Given the description of an element on the screen output the (x, y) to click on. 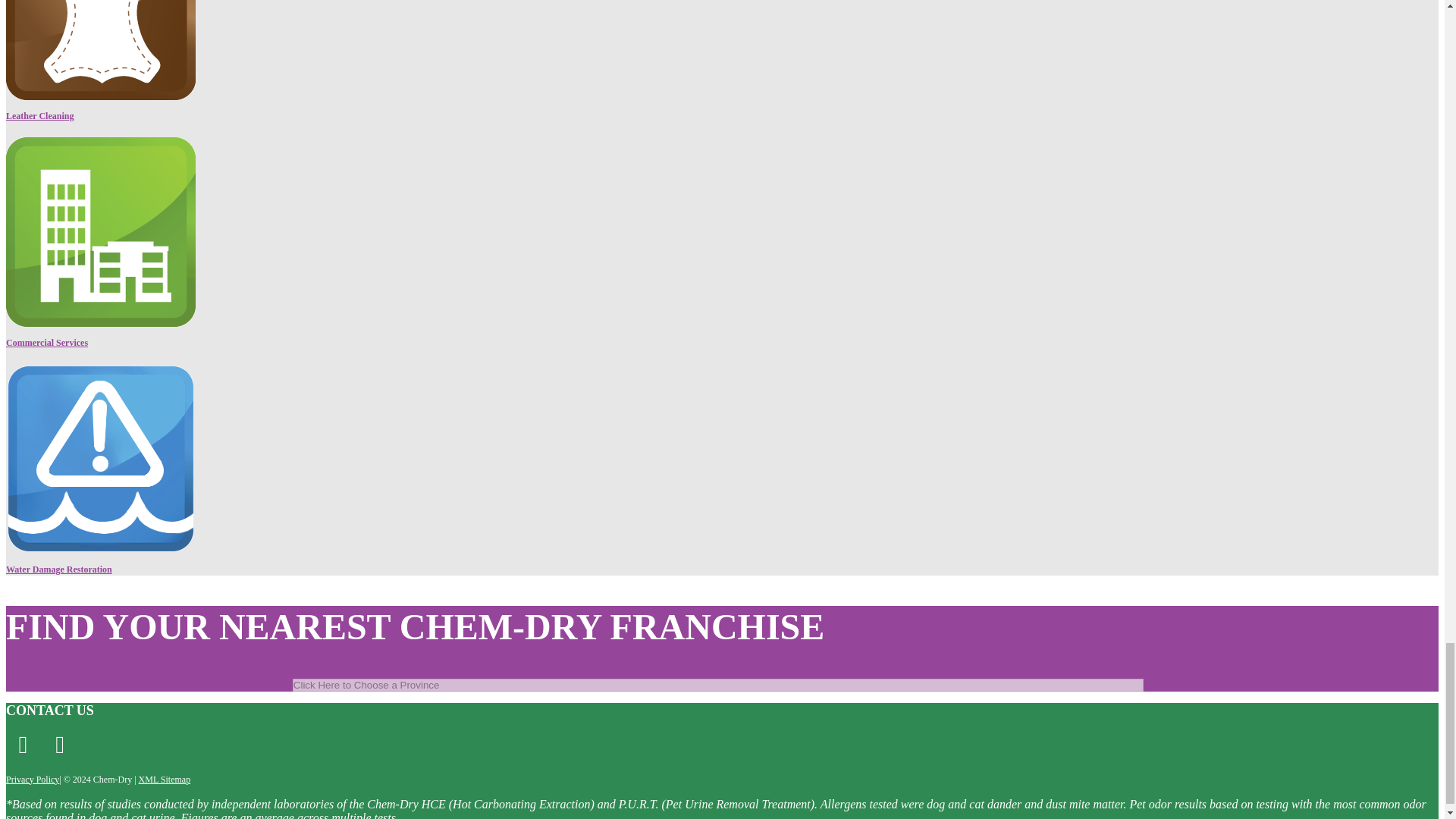
commercial cleaning (100, 231)
water damage resoration (100, 458)
